Given the description of an element on the screen output the (x, y) to click on. 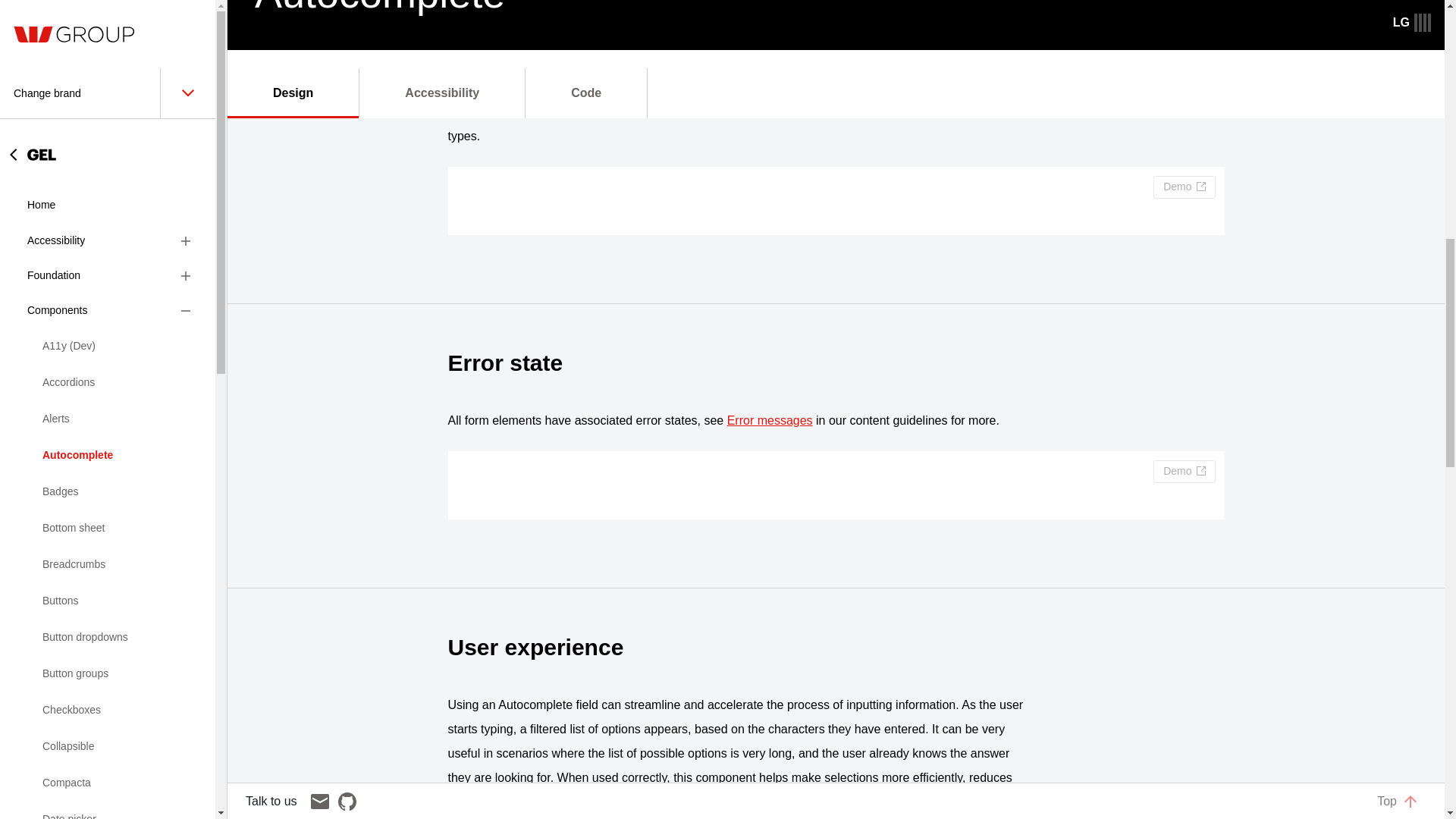
Pagination (107, 291)
Switches (107, 619)
Radios (107, 473)
Progress rope (107, 437)
Date picker (107, 9)
Selects (107, 546)
Panels (107, 328)
Progress bar (107, 401)
Header (107, 36)
Lists (107, 218)
Selector (107, 583)
Popovers (107, 364)
Modals (107, 255)
Inputs (107, 109)
Input groups (107, 145)
